Given the description of an element on the screen output the (x, y) to click on. 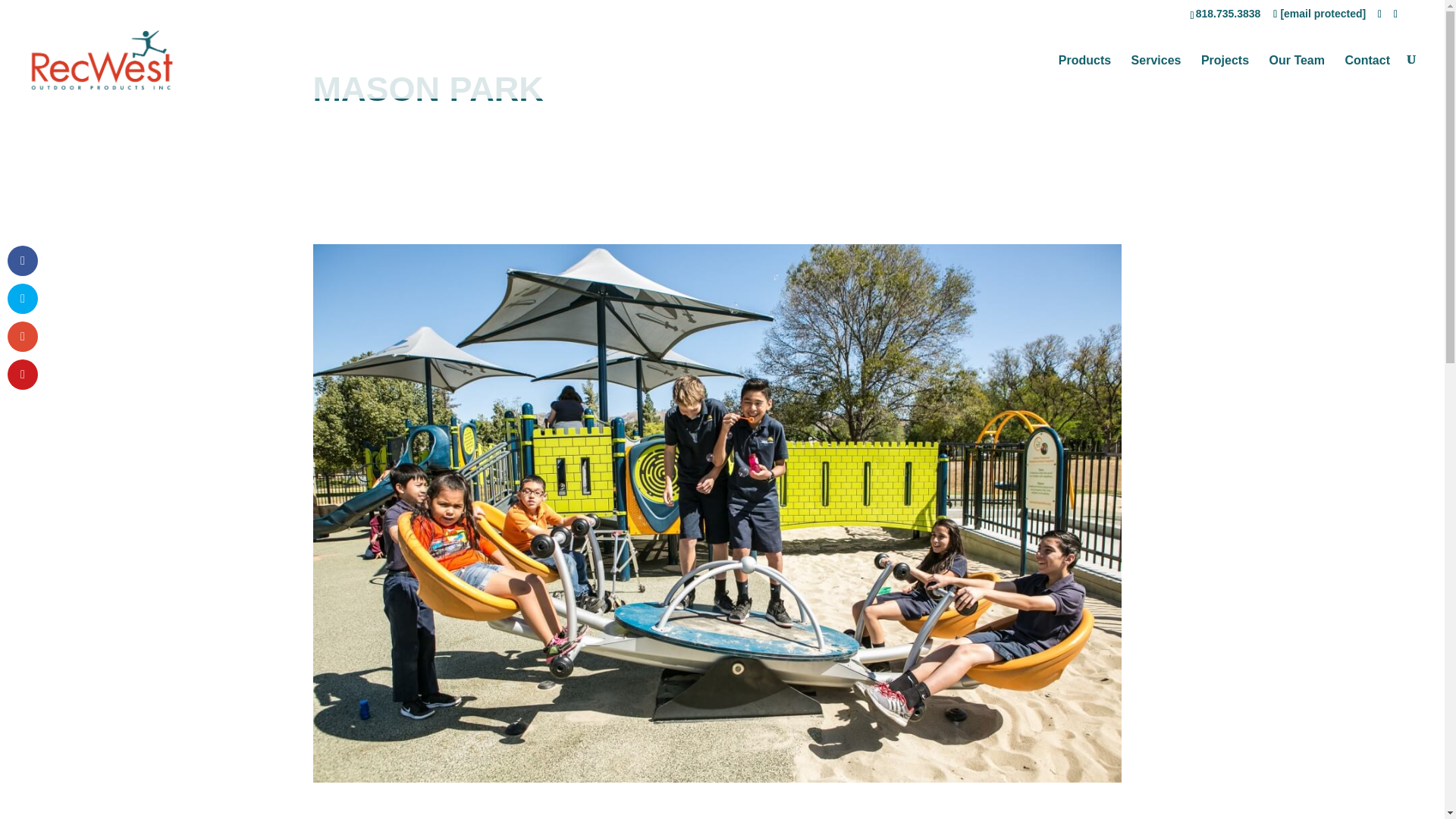
Contact (1366, 72)
Services (1155, 72)
Projects (1225, 72)
Products (1084, 72)
Our Team (1296, 72)
